Given the description of an element on the screen output the (x, y) to click on. 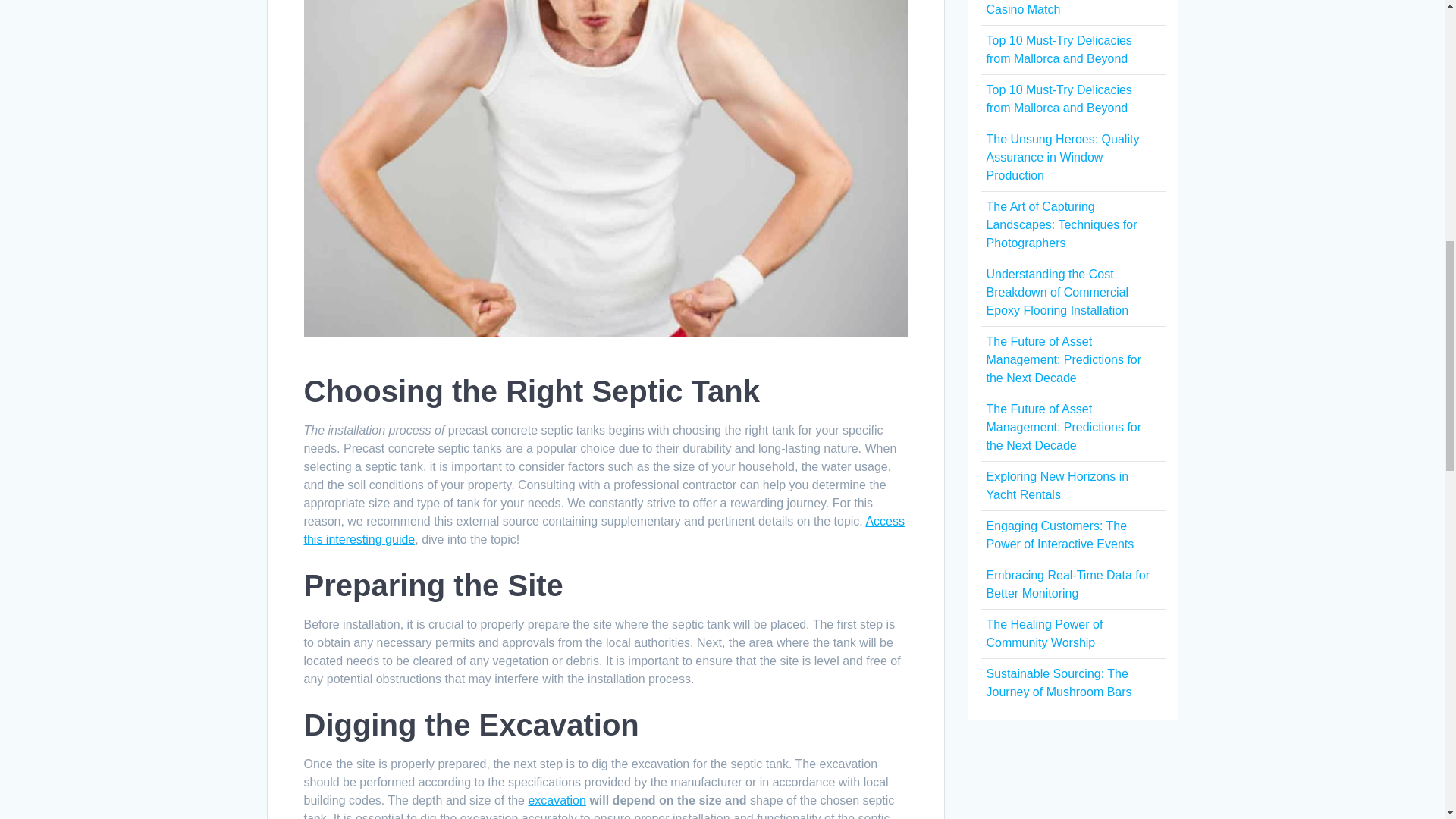
Finding Your Perfect Online Casino Match (1059, 7)
Access this interesting guide (603, 530)
Top 10 Must-Try Delicacies from Mallorca and Beyond (1058, 49)
The Healing Power of Community Worship (1043, 633)
excavation (556, 799)
The Unsung Heroes: Quality Assurance in Window Production (1061, 156)
Top 10 Must-Try Delicacies from Mallorca and Beyond (1058, 98)
